Given the description of an element on the screen output the (x, y) to click on. 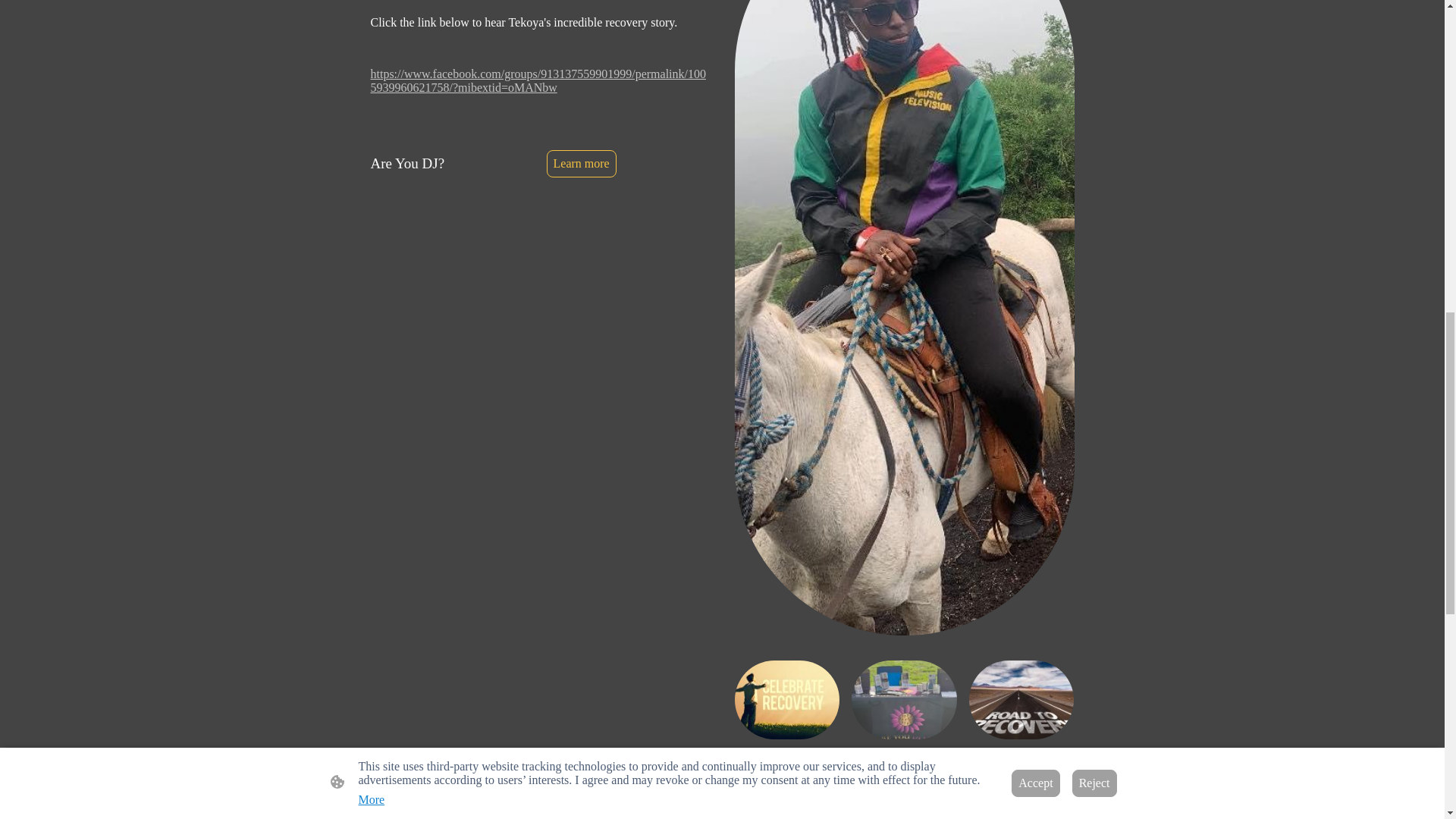
Learn more (580, 163)
